Given the description of an element on the screen output the (x, y) to click on. 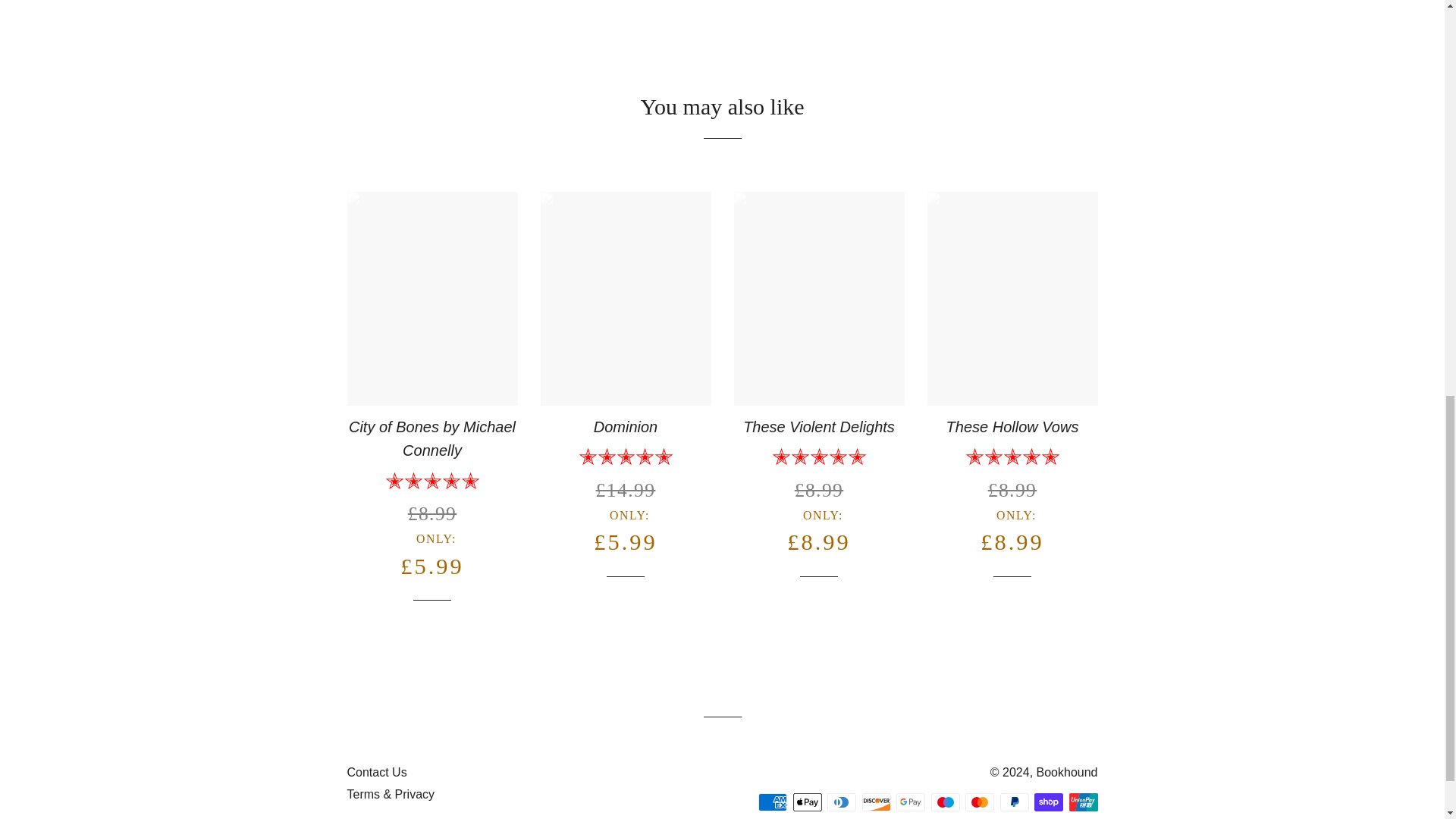
PayPal (1012, 802)
Maestro (945, 802)
Discover (875, 802)
Google Pay (910, 802)
Union Pay (1082, 802)
Apple Pay (807, 802)
Diners Club (841, 802)
American Express (772, 802)
Shop Pay (1047, 802)
Mastercard (979, 802)
